Given the description of an element on the screen output the (x, y) to click on. 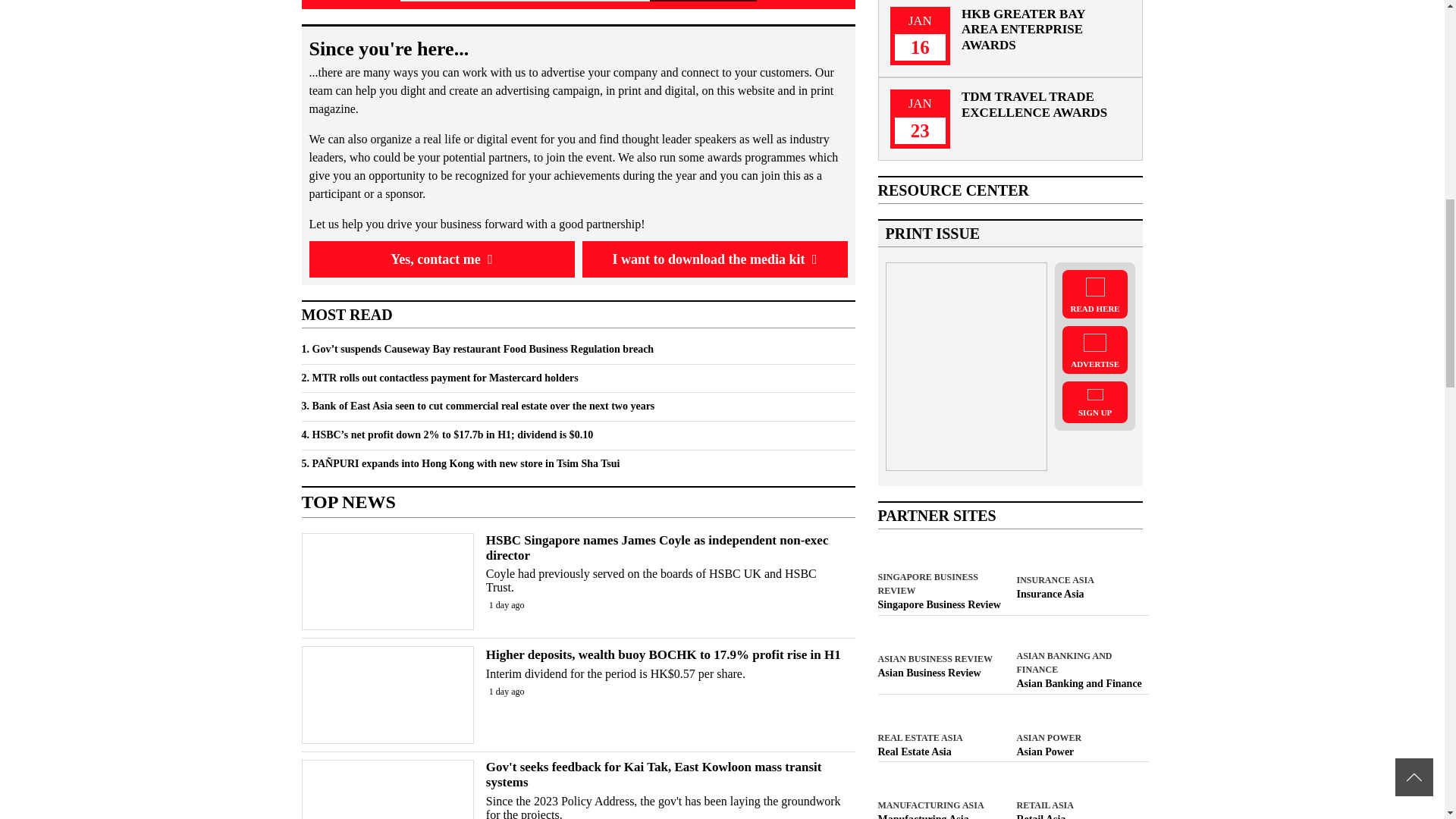
Malaysia told to integrate grids to quicken solar growth (1079, 752)
Sign up (702, 0)
Why APAC logistics investments remained lacklustre in H1 (940, 752)
Why did Hong Kong retail sales fall after a strong rebound? (1079, 816)
